Given the description of an element on the screen output the (x, y) to click on. 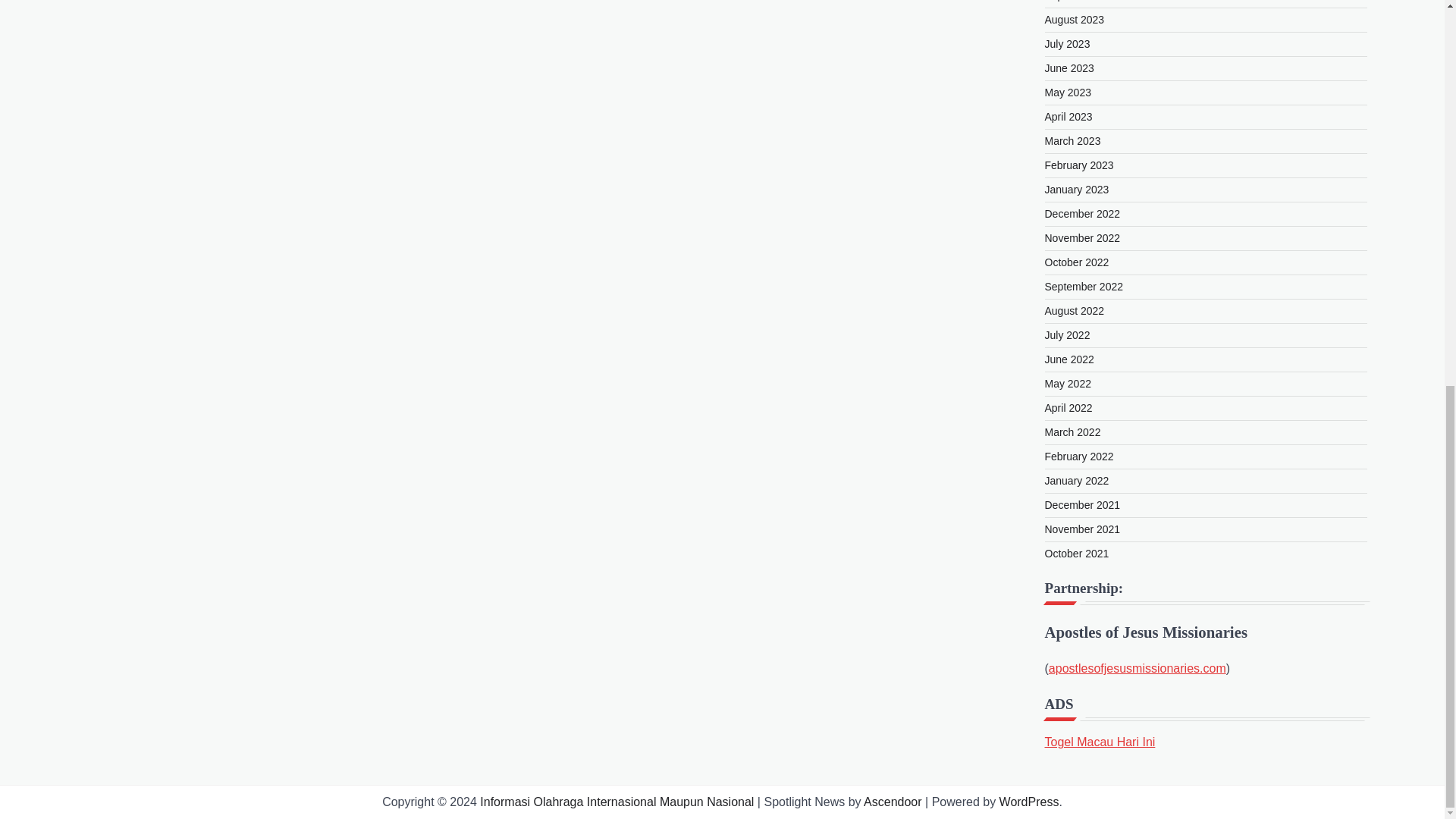
July 2023 (1067, 43)
February 2023 (1079, 164)
June 2023 (1069, 68)
May 2023 (1067, 92)
January 2023 (1077, 189)
April 2023 (1069, 116)
August 2023 (1075, 19)
September 2023 (1084, 0)
March 2023 (1072, 141)
